Given the description of an element on the screen output the (x, y) to click on. 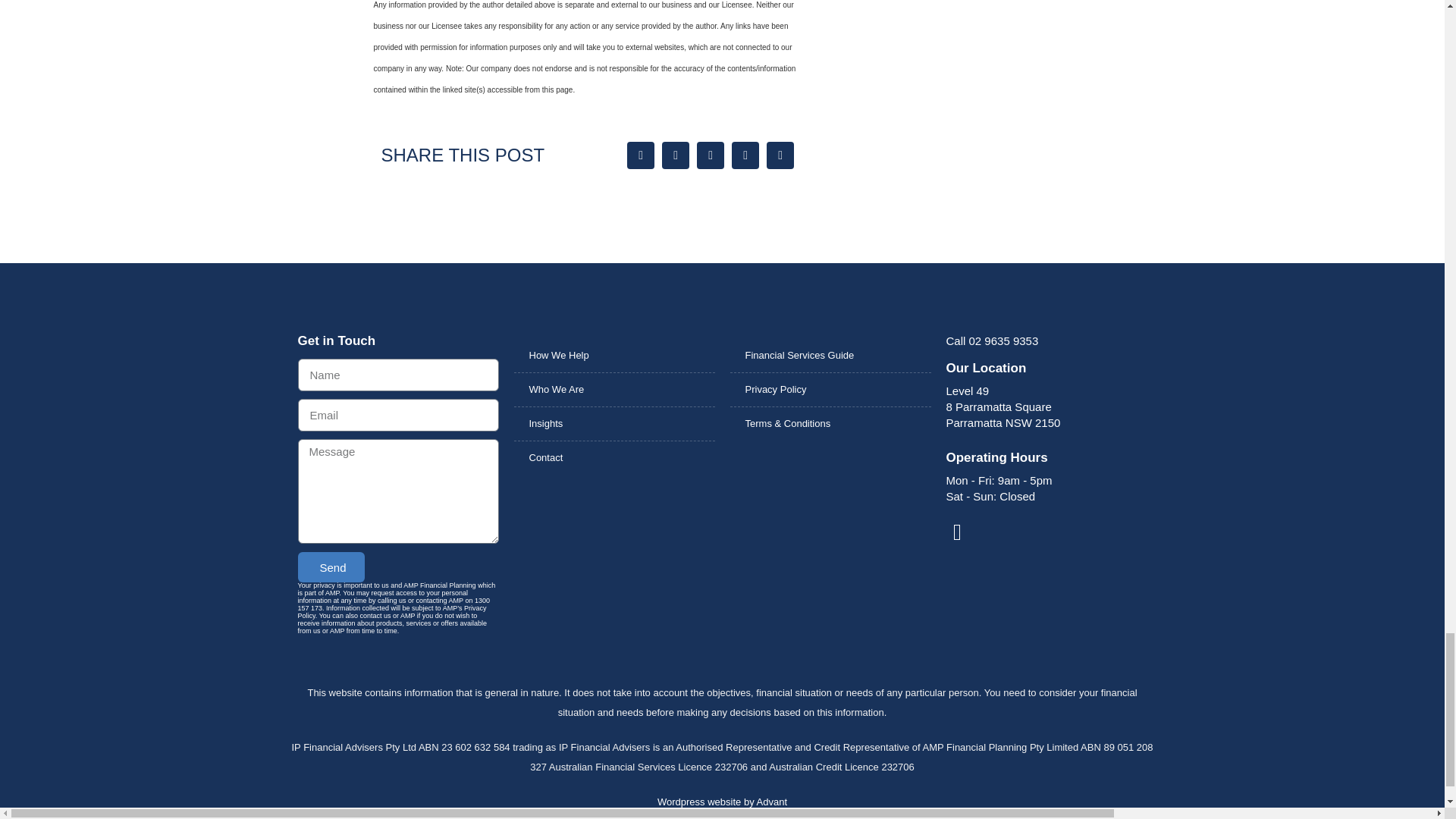
Who We Are (613, 389)
How We Help (613, 355)
Send (330, 567)
